Given the description of an element on the screen output the (x, y) to click on. 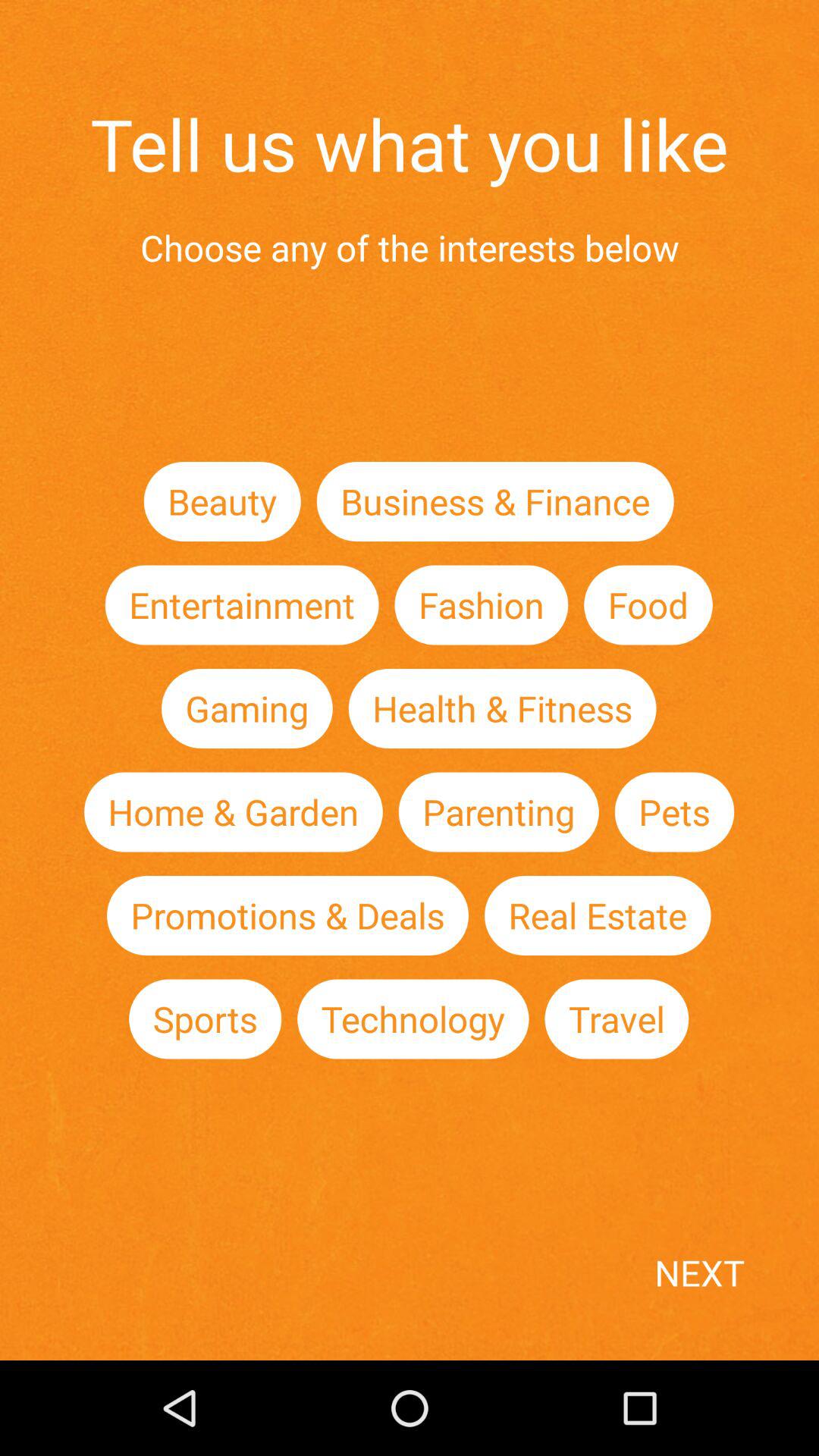
click icon above home & garden (246, 708)
